Given the description of an element on the screen output the (x, y) to click on. 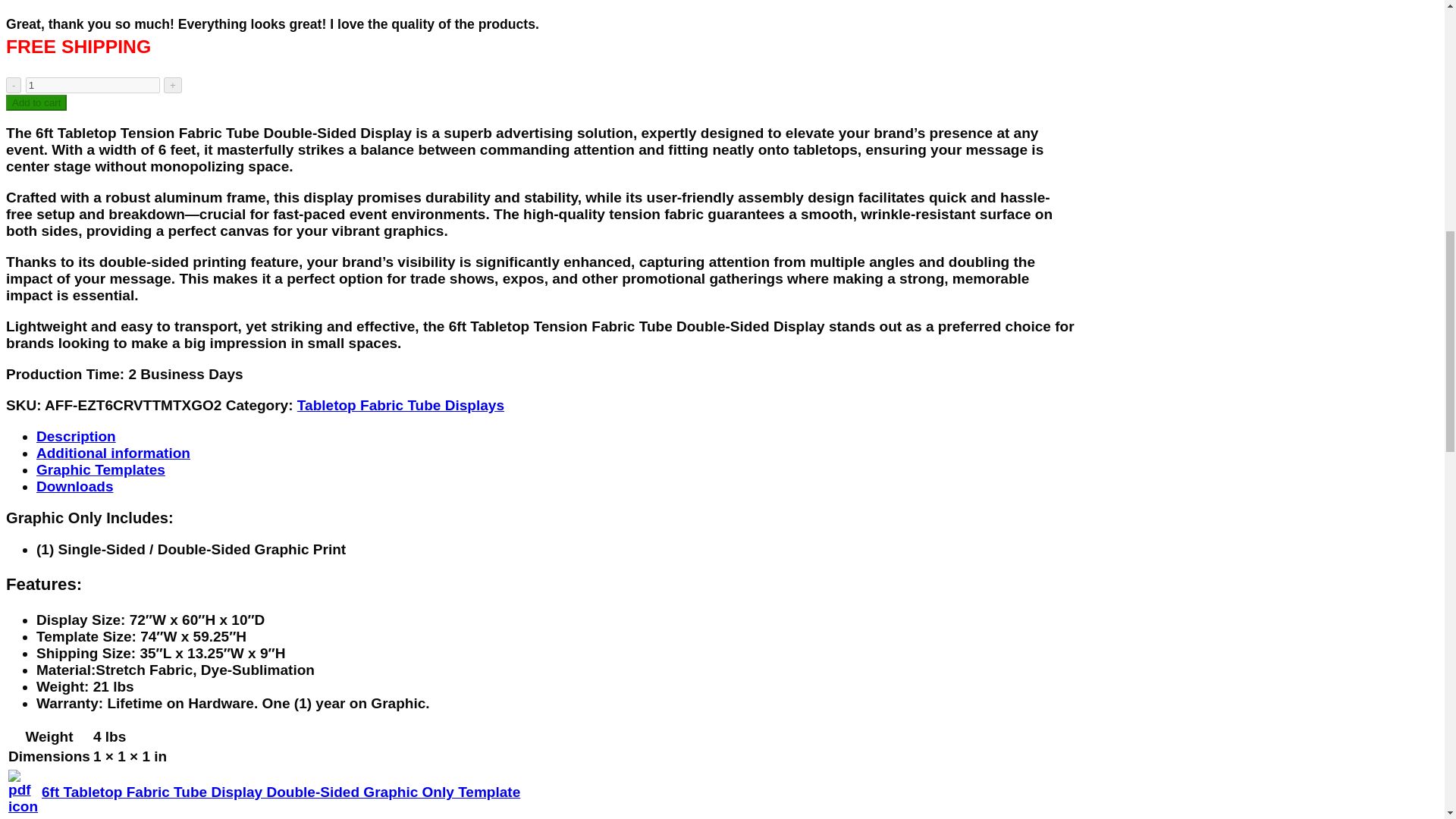
1 (93, 84)
Add to cart (35, 102)
Tabletop Fabric Tube Displays (400, 405)
- (13, 84)
